Given the description of an element on the screen output the (x, y) to click on. 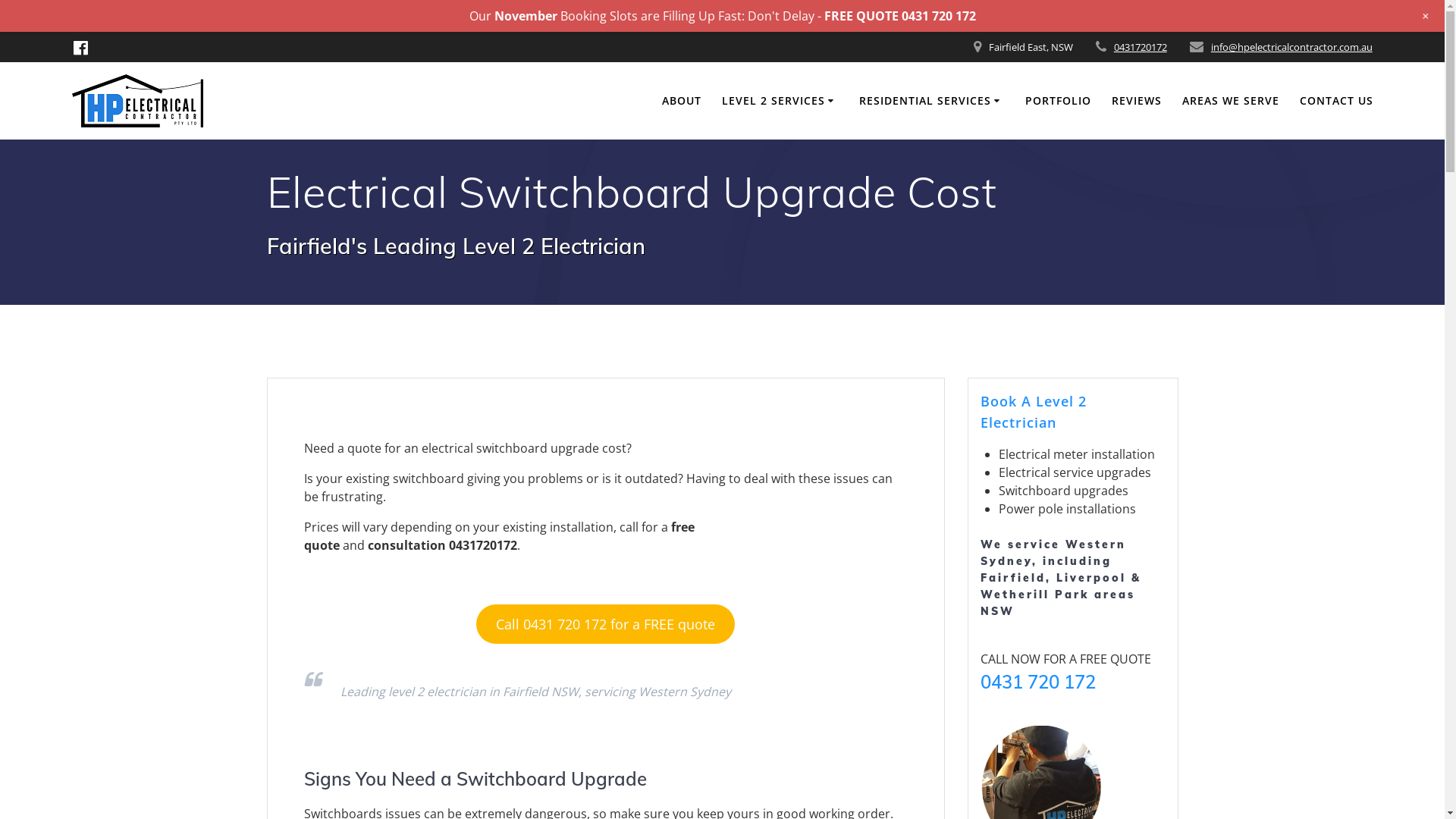
FREE QUOTE 0431 720 172 Element type: text (899, 15)
0431 720 172 Element type: text (1037, 681)
ABOUT Element type: text (680, 100)
RESIDENTIAL SERVICES Element type: text (931, 100)
CONTACT US Element type: text (1336, 100)
Book A Level 2 Electrician Element type: text (1032, 411)
REVIEWS Element type: text (1136, 100)
Call 0431 720 172 for a FREE quote Element type: text (605, 623)
PORTFOLIO Element type: text (1058, 100)
AREAS WE SERVE Element type: text (1230, 100)
LEVEL 2 SERVICES Element type: text (779, 100)
info@hpelectricalcontractor.com.au Element type: text (1291, 46)
+ Element type: text (1425, 15)
0431720172 Element type: text (1140, 46)
